Given the description of an element on the screen output the (x, y) to click on. 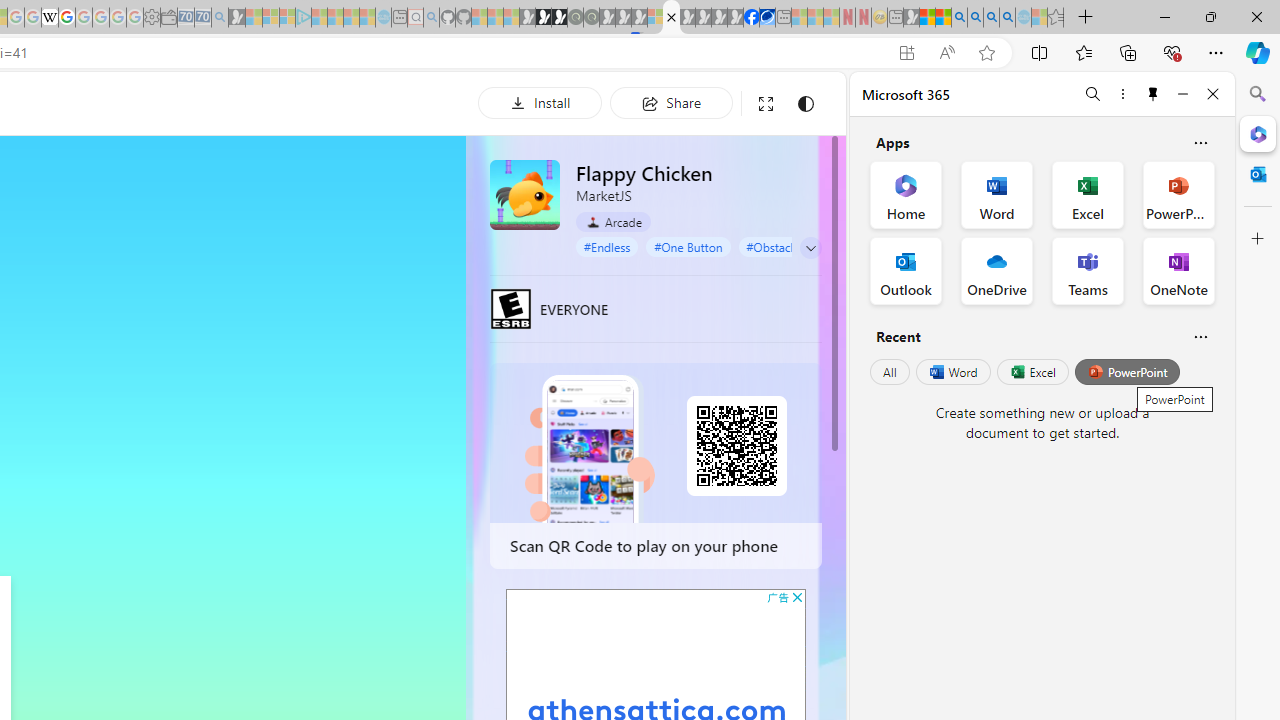
Arcade (613, 222)
Bing Real Estate - Home sales and rental listings - Sleeping (219, 17)
Class: expand-arrow neutral (810, 247)
Play Zoo Boom in your browser | Games from Microsoft Start (543, 17)
